Given the description of an element on the screen output the (x, y) to click on. 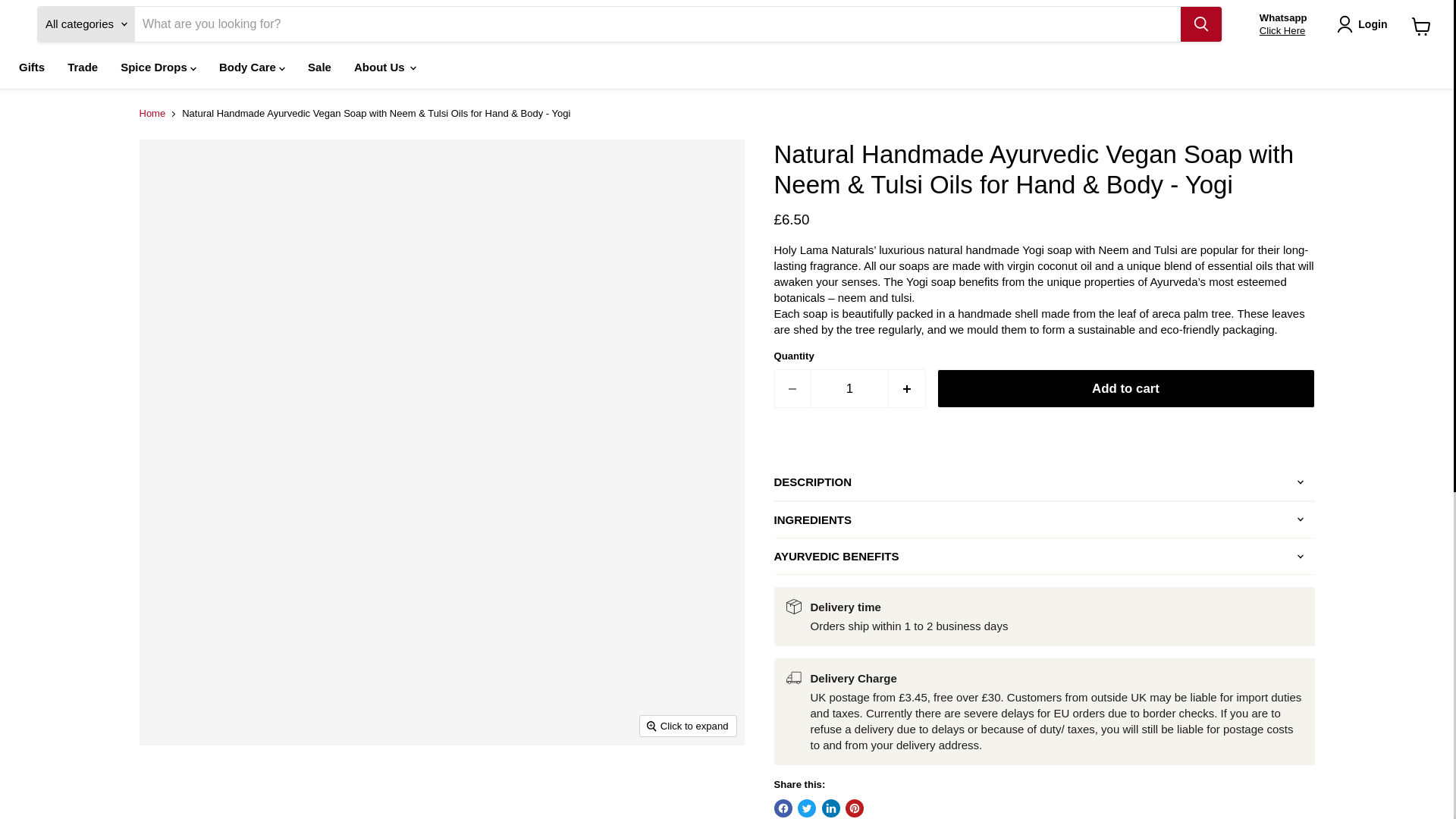
1 (849, 388)
Gifts (31, 66)
Whatsapp (1283, 17)
View cart (1421, 26)
Click Here (1281, 30)
Trade (82, 66)
Login (1364, 24)
